Given the description of an element on the screen output the (x, y) to click on. 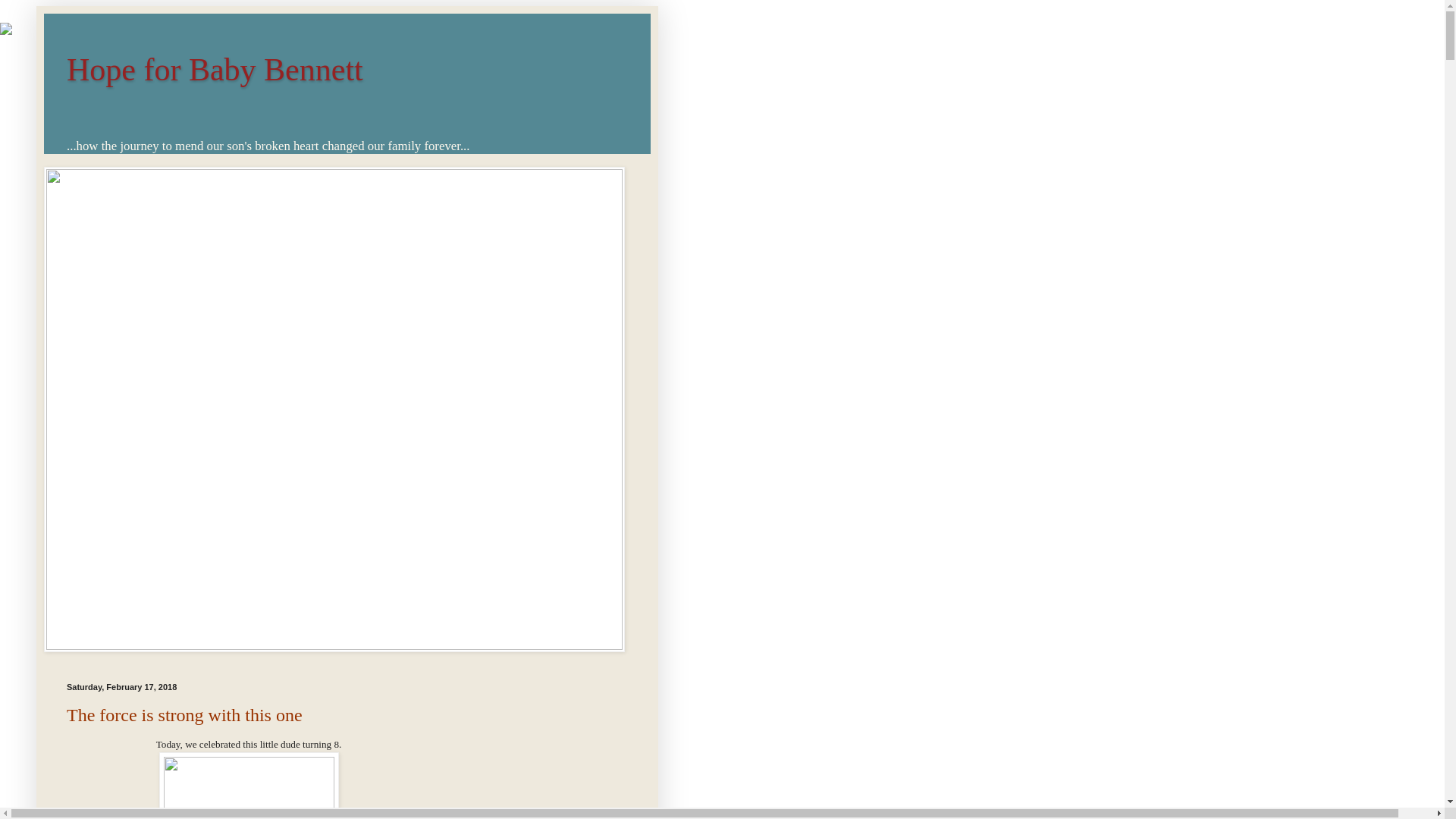
Hope for Baby Bennett (214, 69)
The force is strong with this one (184, 714)
